Given the description of an element on the screen output the (x, y) to click on. 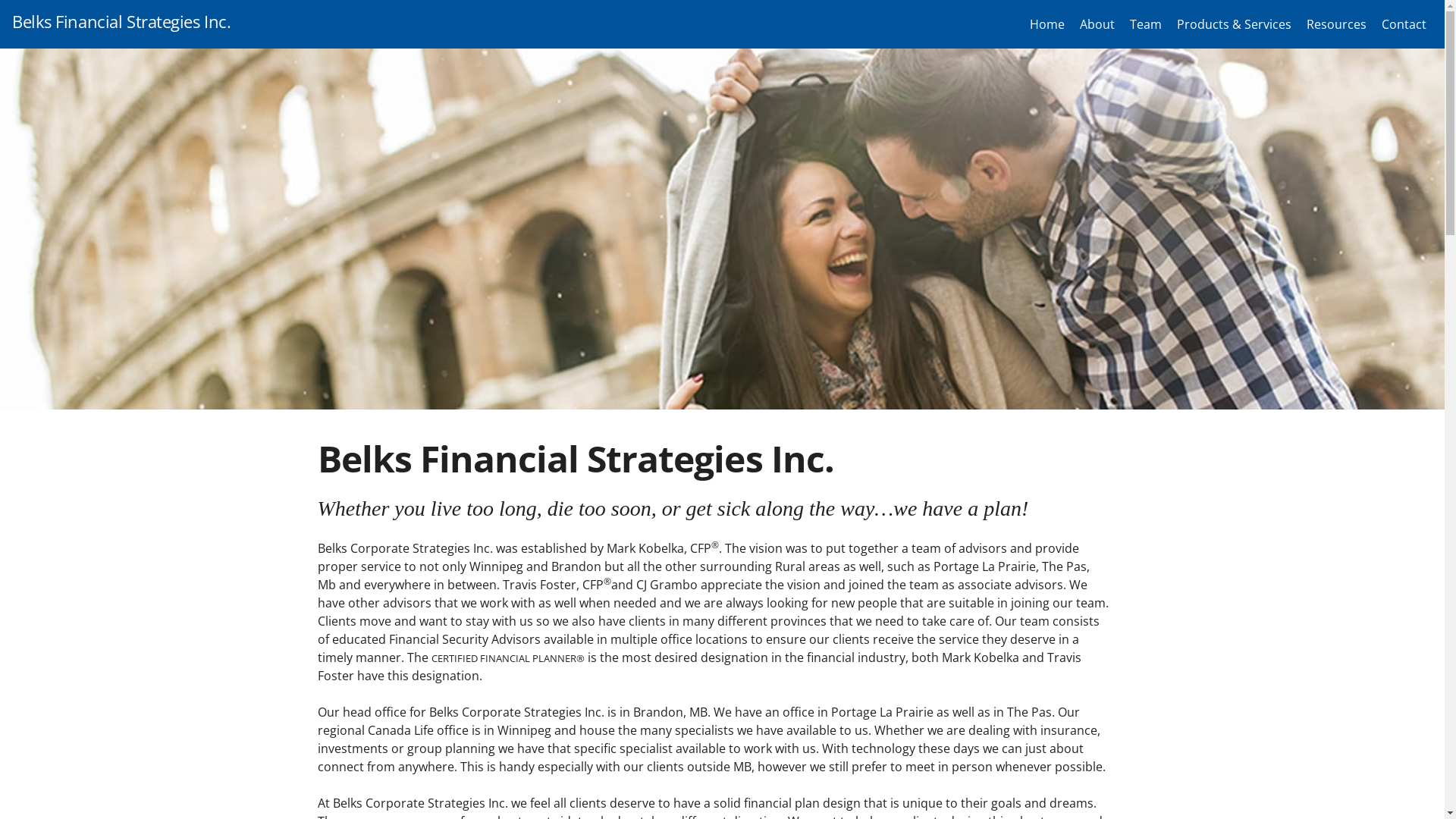
Resources Element type: text (1336, 24)
Home Element type: text (1046, 24)
Contact Element type: text (1403, 24)
Team Element type: text (1145, 24)
Products & Services Element type: text (1233, 24)
About Element type: text (1096, 24)
Belks Financial Strategies Inc. Element type: text (121, 20)
